Given the description of an element on the screen output the (x, y) to click on. 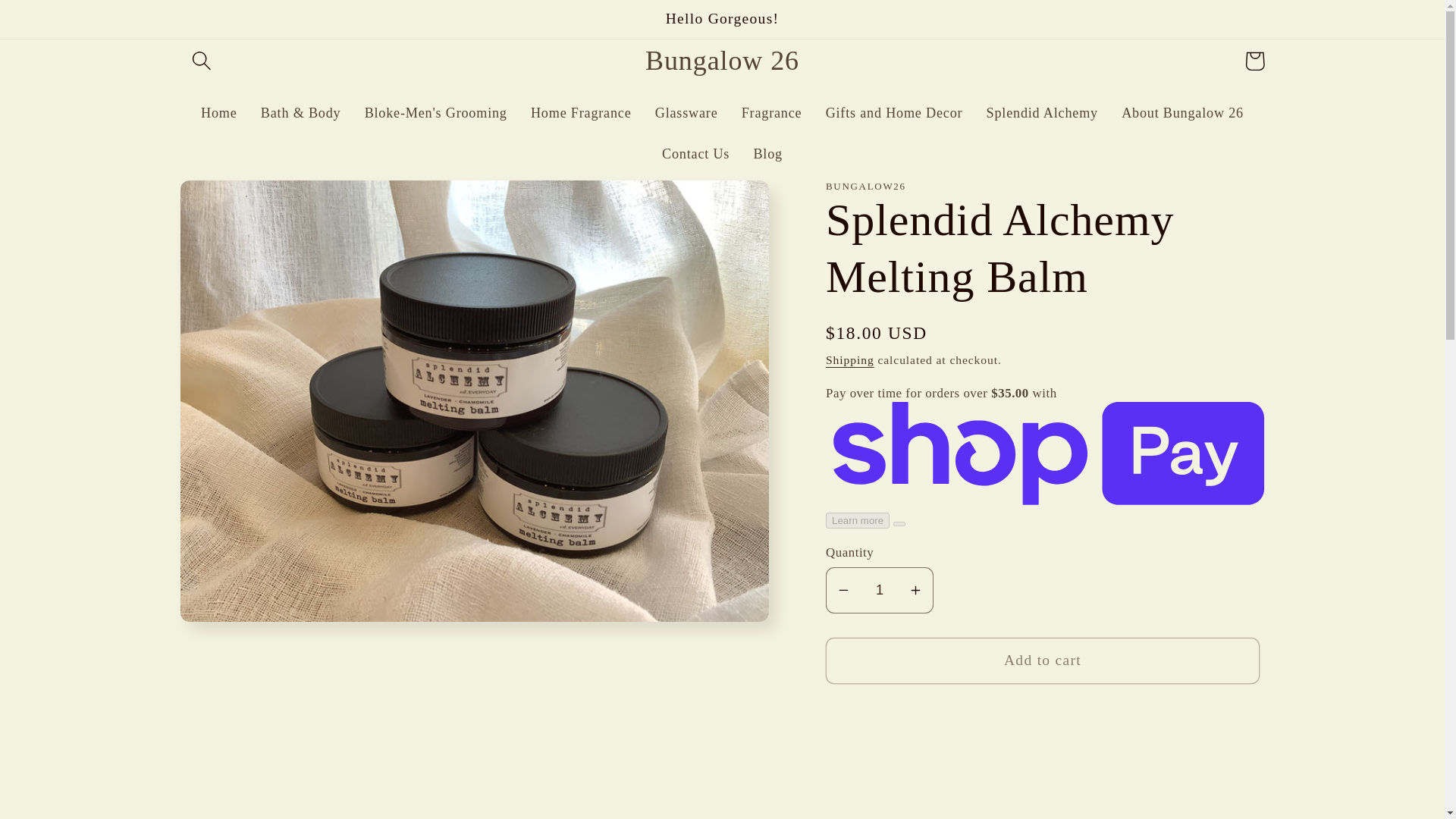
Skip to product information (238, 202)
Gifts and Home Decor (893, 112)
Home Fragrance (580, 112)
Cart (1254, 60)
Fragrance (771, 112)
Bungalow 26 (721, 60)
Contact Us (695, 153)
Home (218, 112)
Glassware (686, 112)
Bloke-Men's Grooming (435, 112)
Skip to content (59, 22)
Blog (767, 153)
About Bungalow 26 (1182, 112)
Splendid Alchemy (1041, 112)
